Given the description of an element on the screen output the (x, y) to click on. 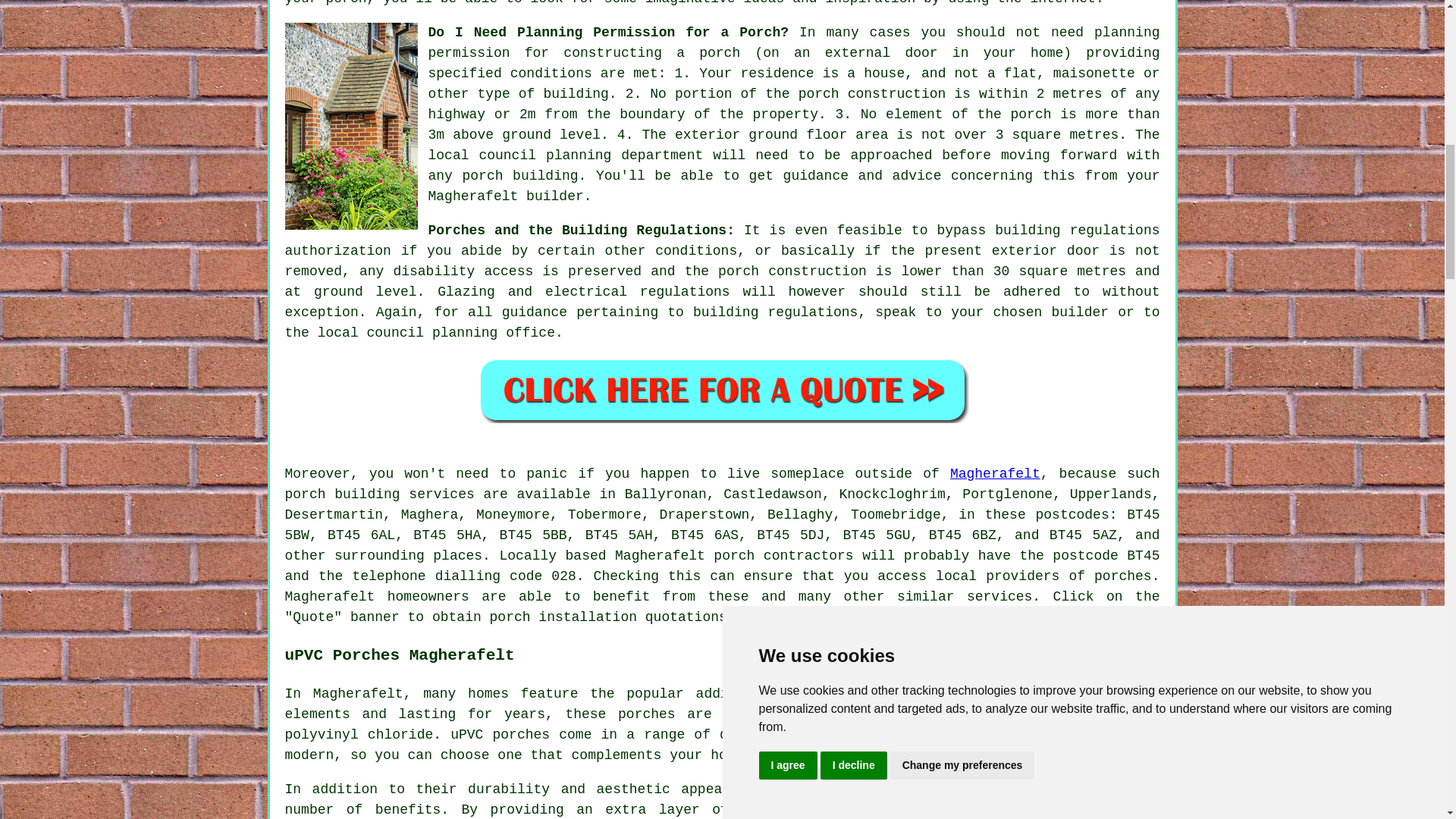
porch (346, 2)
uPVC Porches Magherafelt (1046, 799)
porches (1122, 575)
uPVC porch (864, 693)
porch (733, 555)
porch (510, 616)
